Given the description of an element on the screen output the (x, y) to click on. 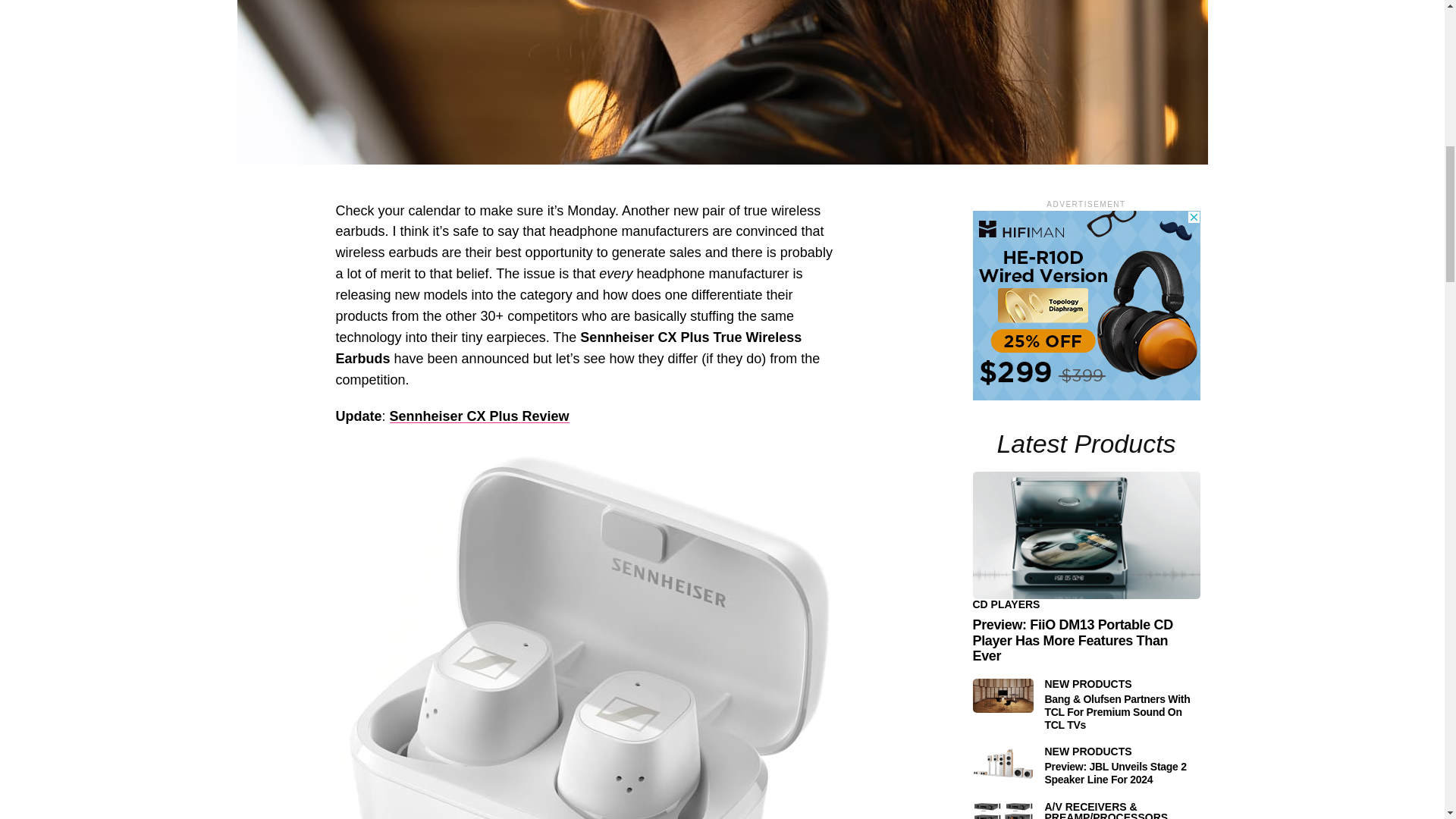
3rd party ad content (1085, 305)
